Given the description of an element on the screen output the (x, y) to click on. 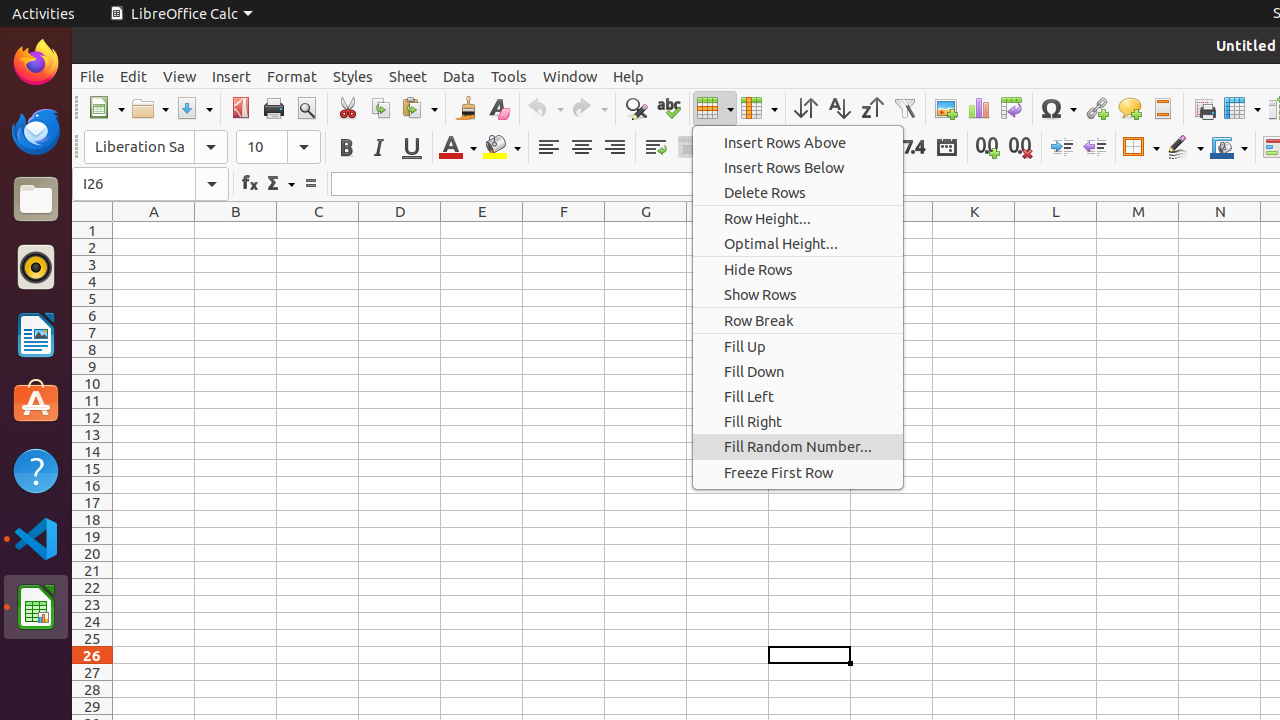
luyi1 Element type: label (133, 89)
Trash Element type: label (133, 191)
LibreOffice Calc Element type: push-button (36, 607)
